Given the description of an element on the screen output the (x, y) to click on. 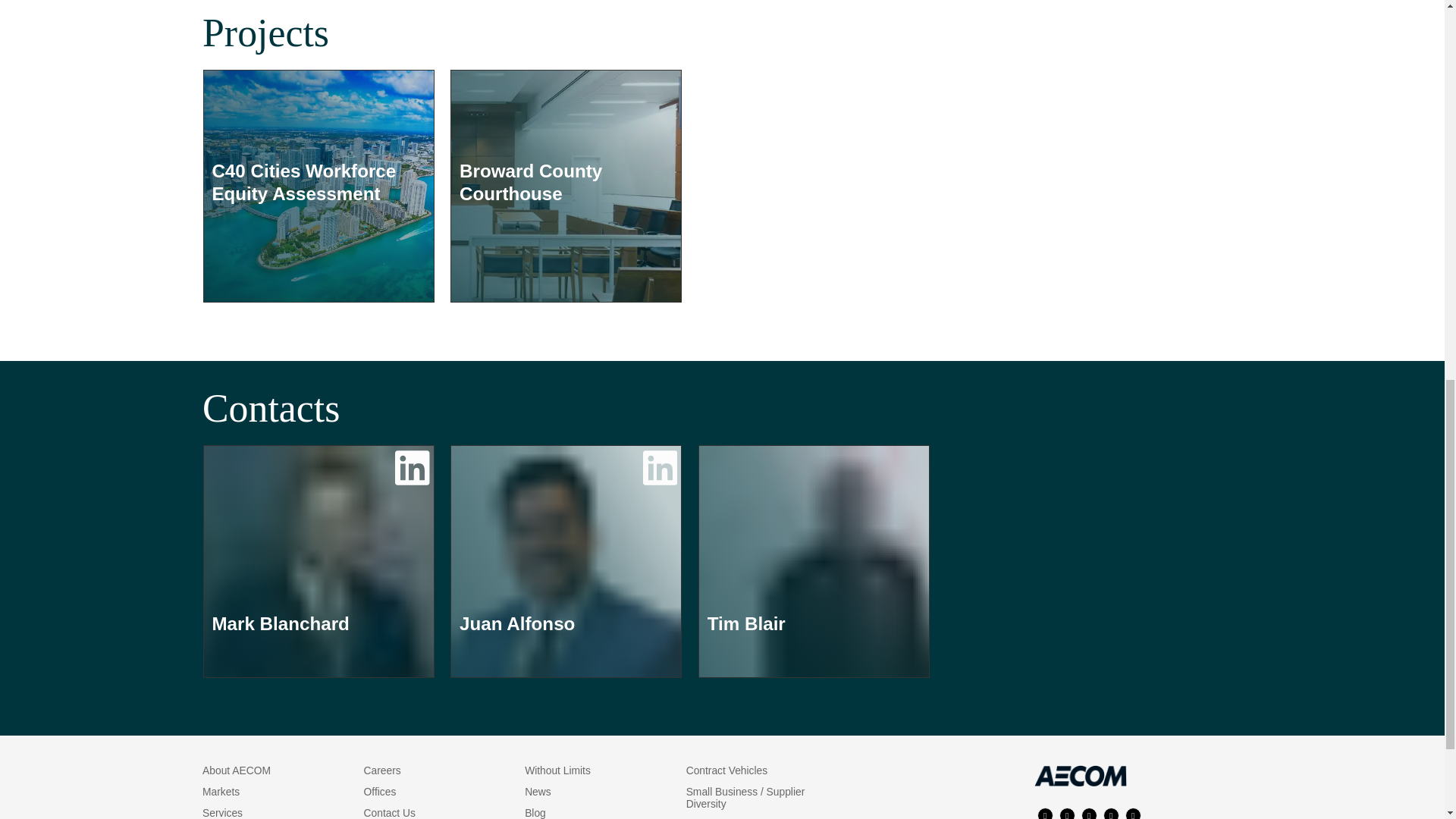
About AECOM (236, 770)
Instagram (1067, 813)
Contract Vehicles (726, 770)
Services (222, 812)
Careers (382, 770)
Youtube (1133, 813)
Markets (221, 791)
Facebook (1045, 813)
News (537, 791)
Offices (380, 791)
Without Limits (557, 770)
Blog (535, 812)
Contact Us (389, 812)
Linkedin (1089, 813)
Twitter (1111, 813)
